Given the description of an element on the screen output the (x, y) to click on. 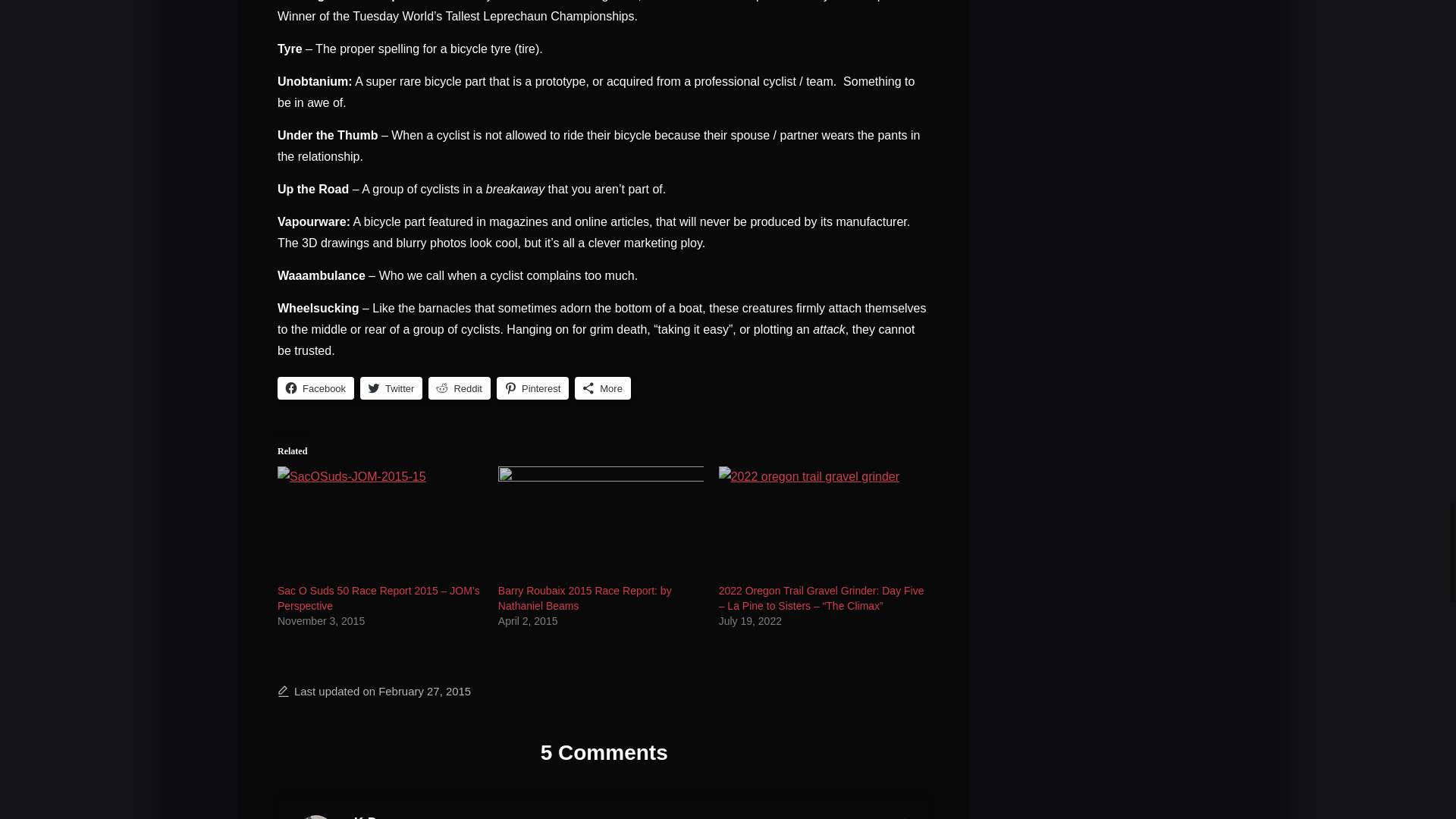
Facebook (315, 387)
Click to share on Facebook (315, 387)
Click to share on Reddit (459, 387)
More (602, 387)
Click to share on Pinterest (532, 387)
Pinterest (532, 387)
Barry Roubaix 2015 Race Report: by Nathaniel Beams (600, 524)
Barry Roubaix 2015 Race Report: by Nathaniel Beams (584, 597)
Click to share on Twitter (390, 387)
Twitter (390, 387)
Reddit (459, 387)
